Given the description of an element on the screen output the (x, y) to click on. 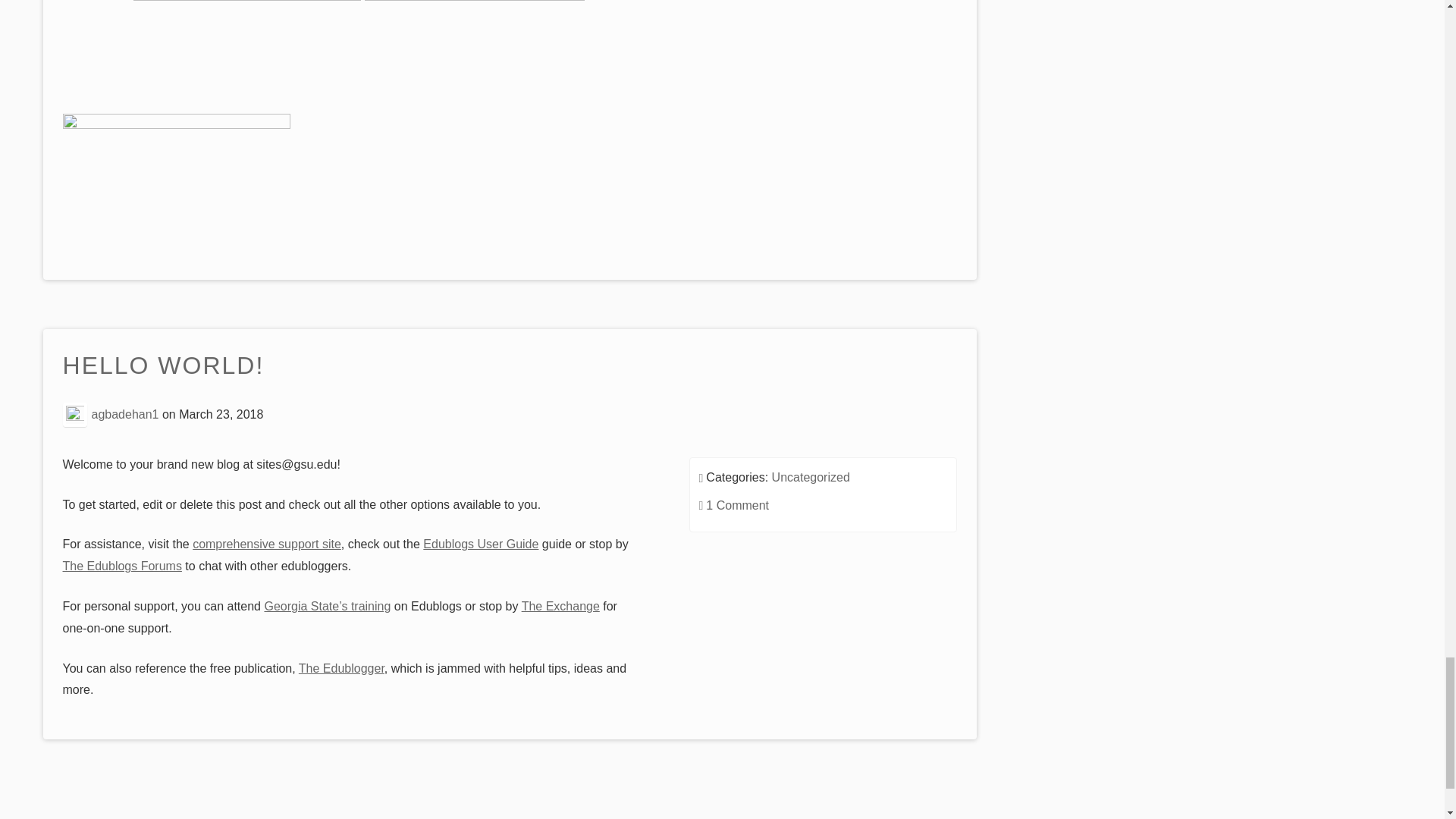
The Exchange (560, 605)
The Edublogger (341, 667)
comprehensive support site (266, 543)
HELLO WORLD! (163, 367)
agbadehan1 (124, 413)
The Edublogs Forums (122, 565)
Uncategorized (810, 477)
Edublogs User Guide (480, 543)
1 Comment (737, 504)
